Given the description of an element on the screen output the (x, y) to click on. 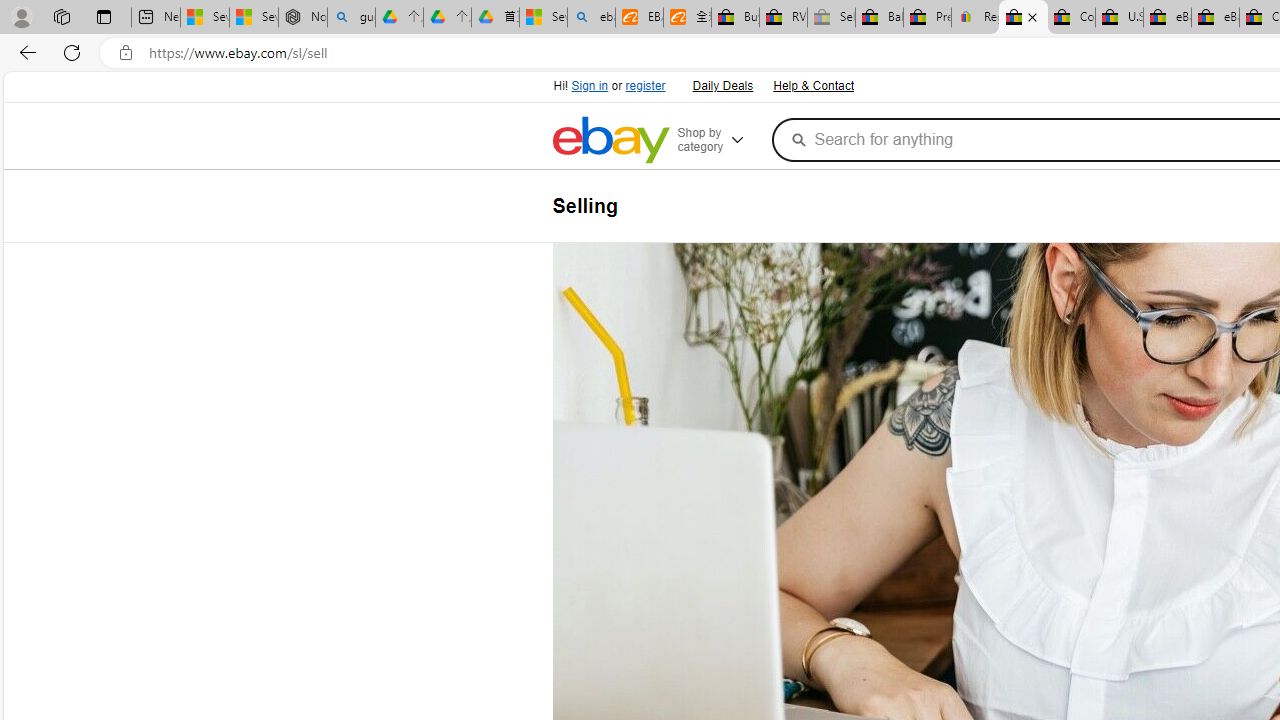
Press Room - eBay Inc. (927, 17)
register (644, 85)
Sell worldwide with eBay - Sleeping (831, 17)
Sign in (589, 85)
Daily Deals (722, 86)
U.S. State Privacy Disclosures - eBay Inc. (1119, 17)
eBay Home (610, 139)
eBay Home (610, 139)
